Given the description of an element on the screen output the (x, y) to click on. 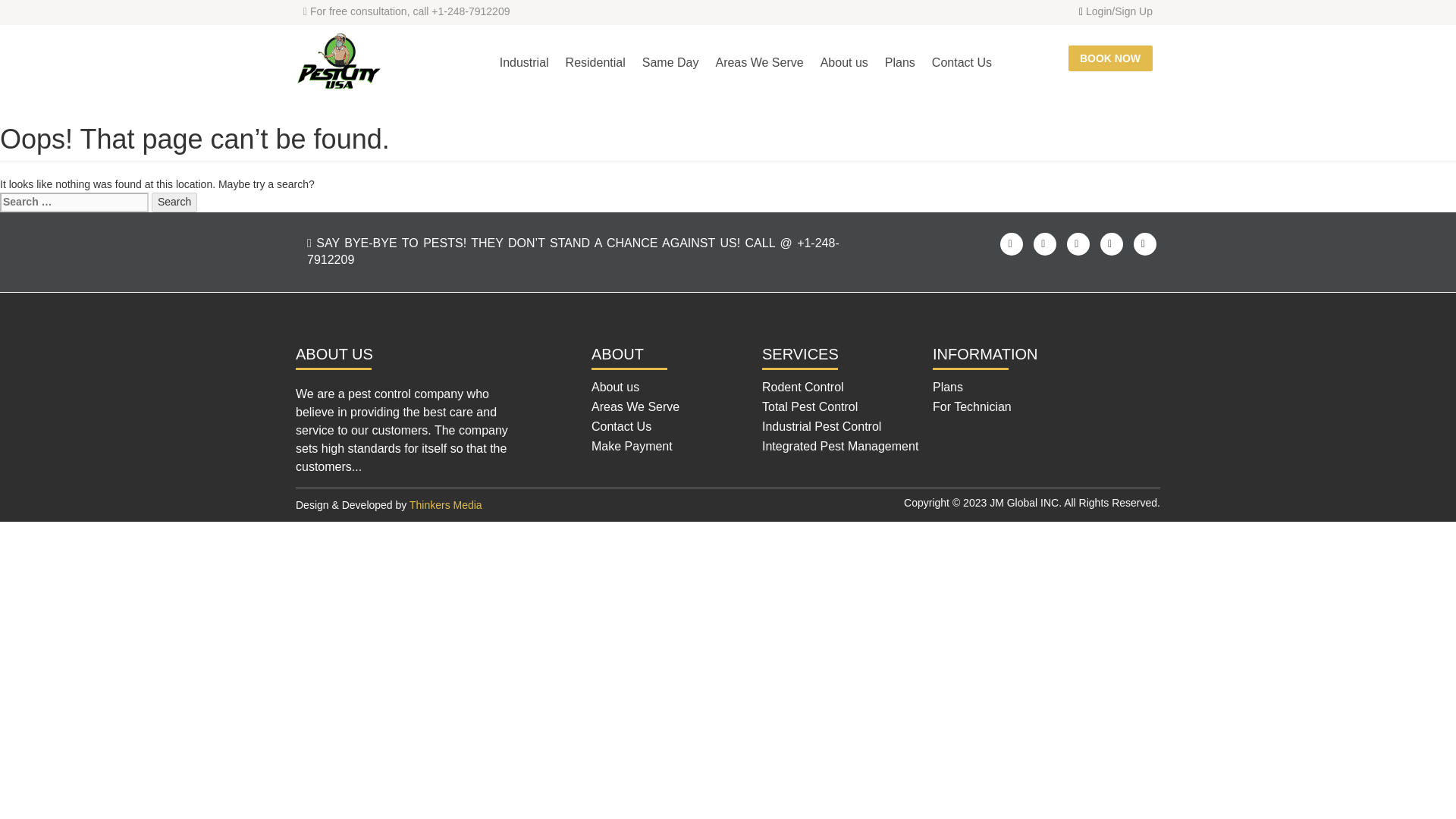
Areas We Serve (635, 406)
Areas We Serve (758, 62)
About us (615, 386)
Search (173, 202)
Same Day (670, 62)
Industrial (524, 62)
Search (173, 202)
Contact Us (961, 62)
Plans (899, 62)
